Given the description of an element on the screen output the (x, y) to click on. 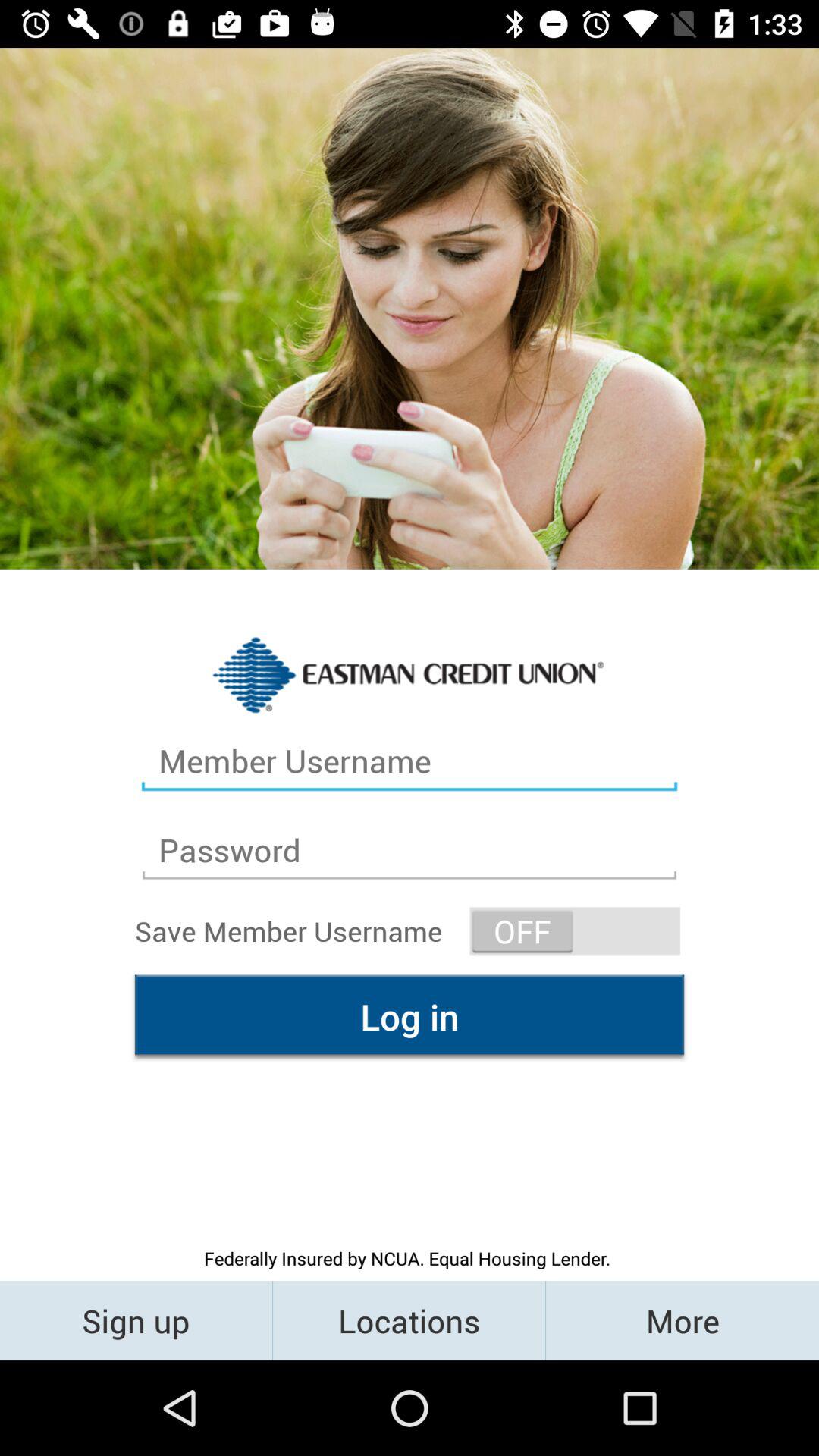
open item below federally insured by (682, 1320)
